Given the description of an element on the screen output the (x, y) to click on. 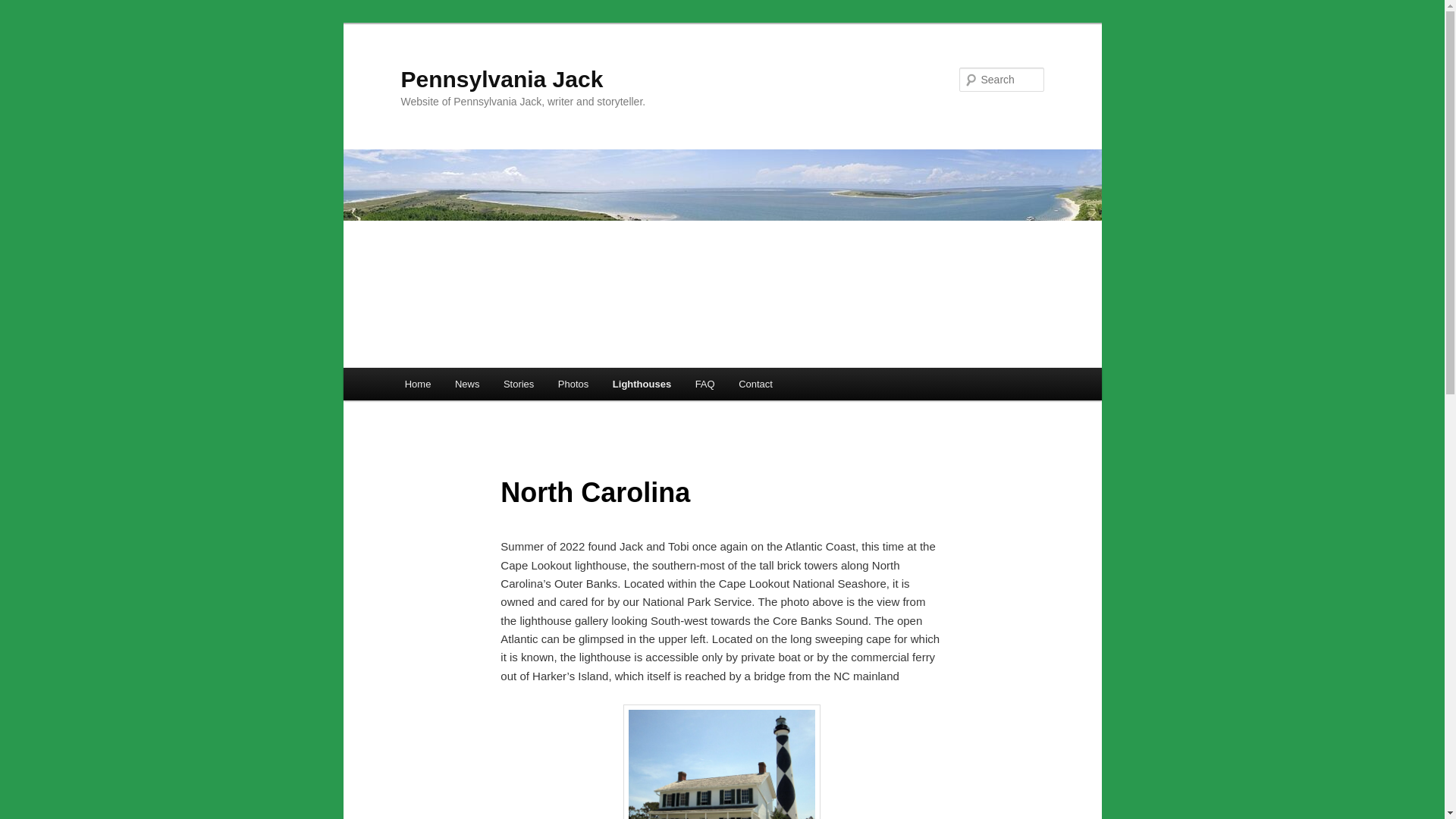
Home (417, 383)
Pennsylvania Jack (501, 78)
News (467, 383)
Stories (519, 383)
Search (24, 8)
